Given the description of an element on the screen output the (x, y) to click on. 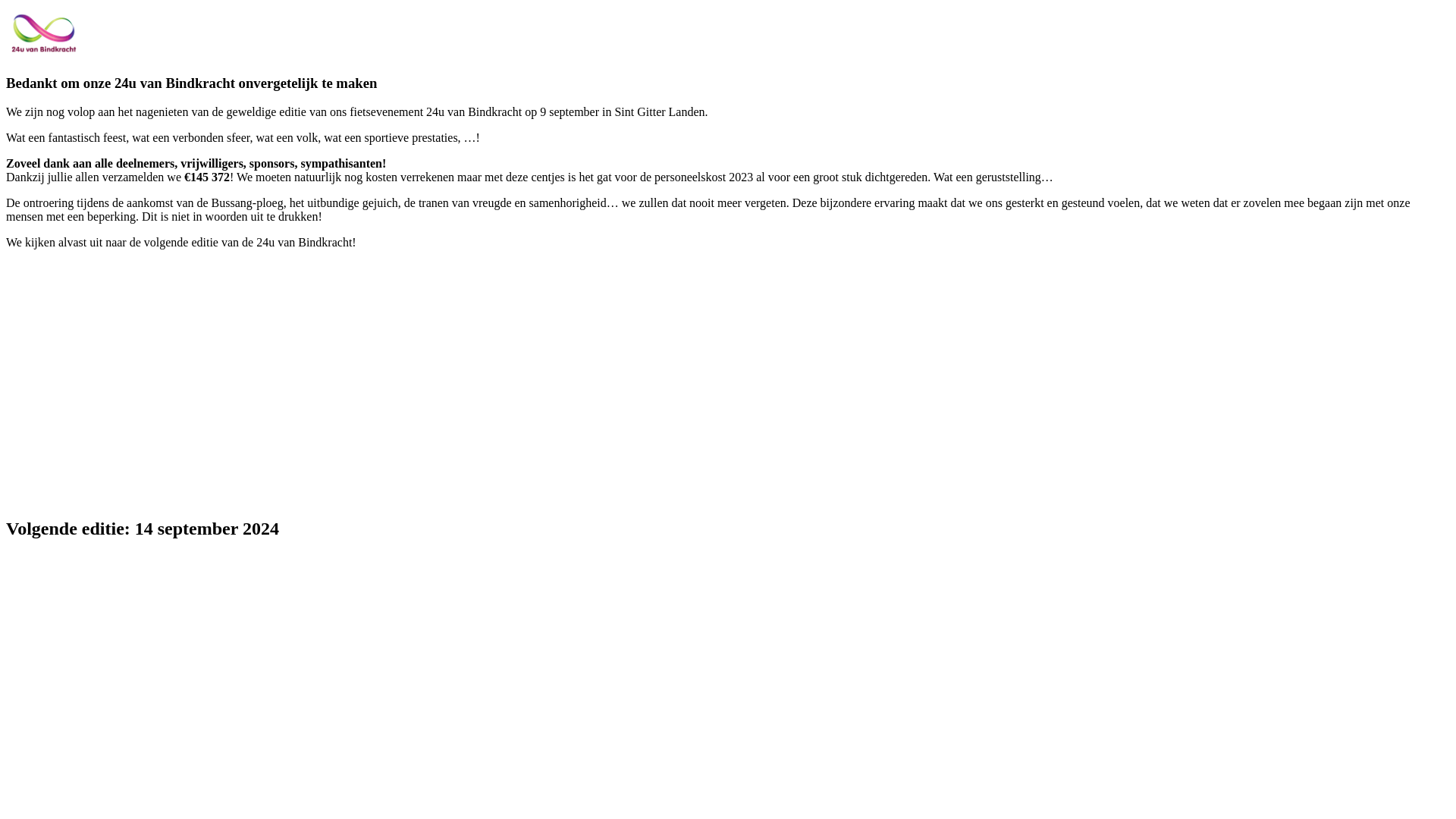
YouTube video player Element type: hover (218, 380)
